Given the description of an element on the screen output the (x, y) to click on. 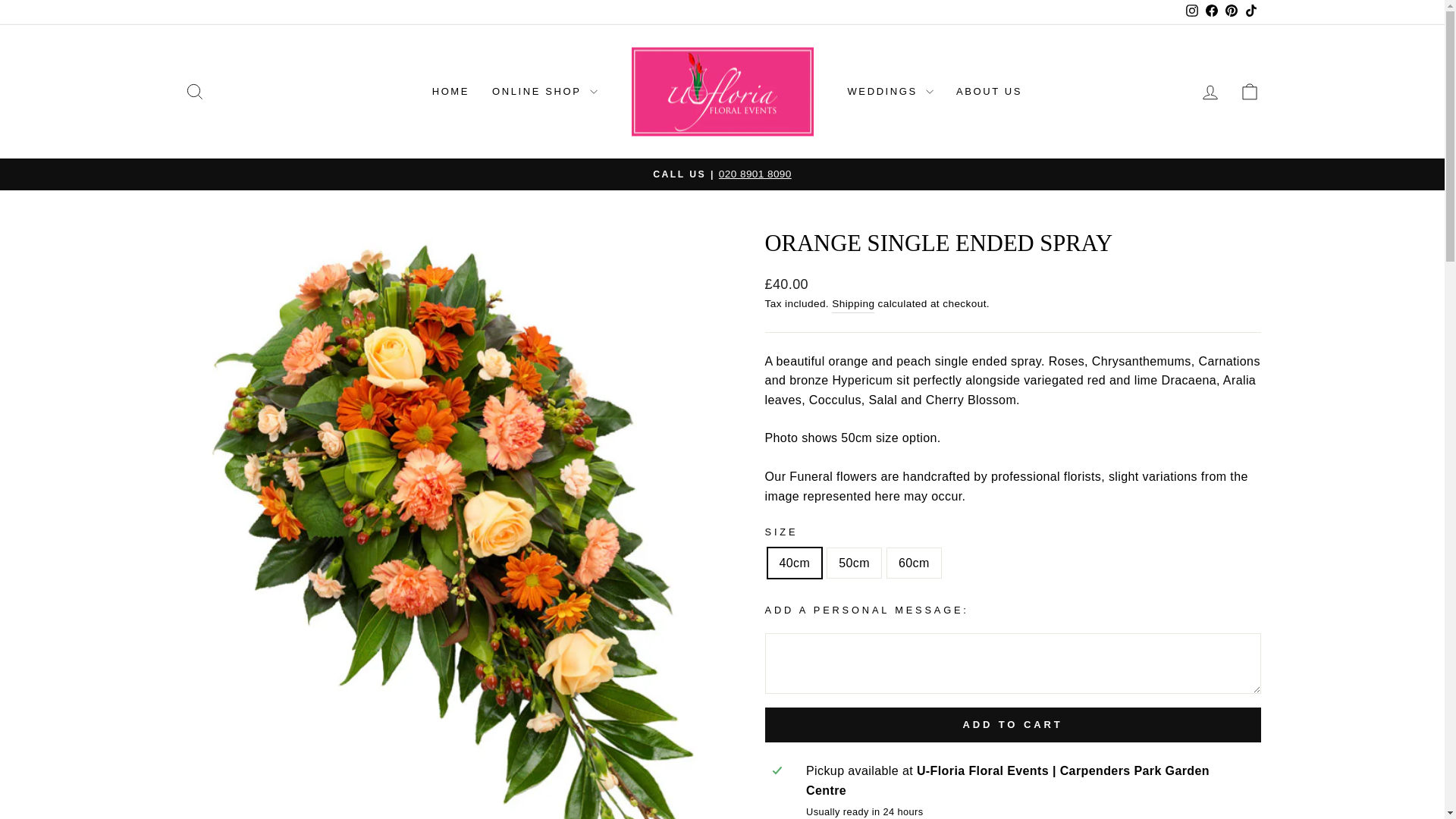
ICON-BAG-MINIMAL (1249, 91)
ICON-SEARCH (194, 91)
ACCOUNT (1210, 92)
instagram (1192, 10)
